Given the description of an element on the screen output the (x, y) to click on. 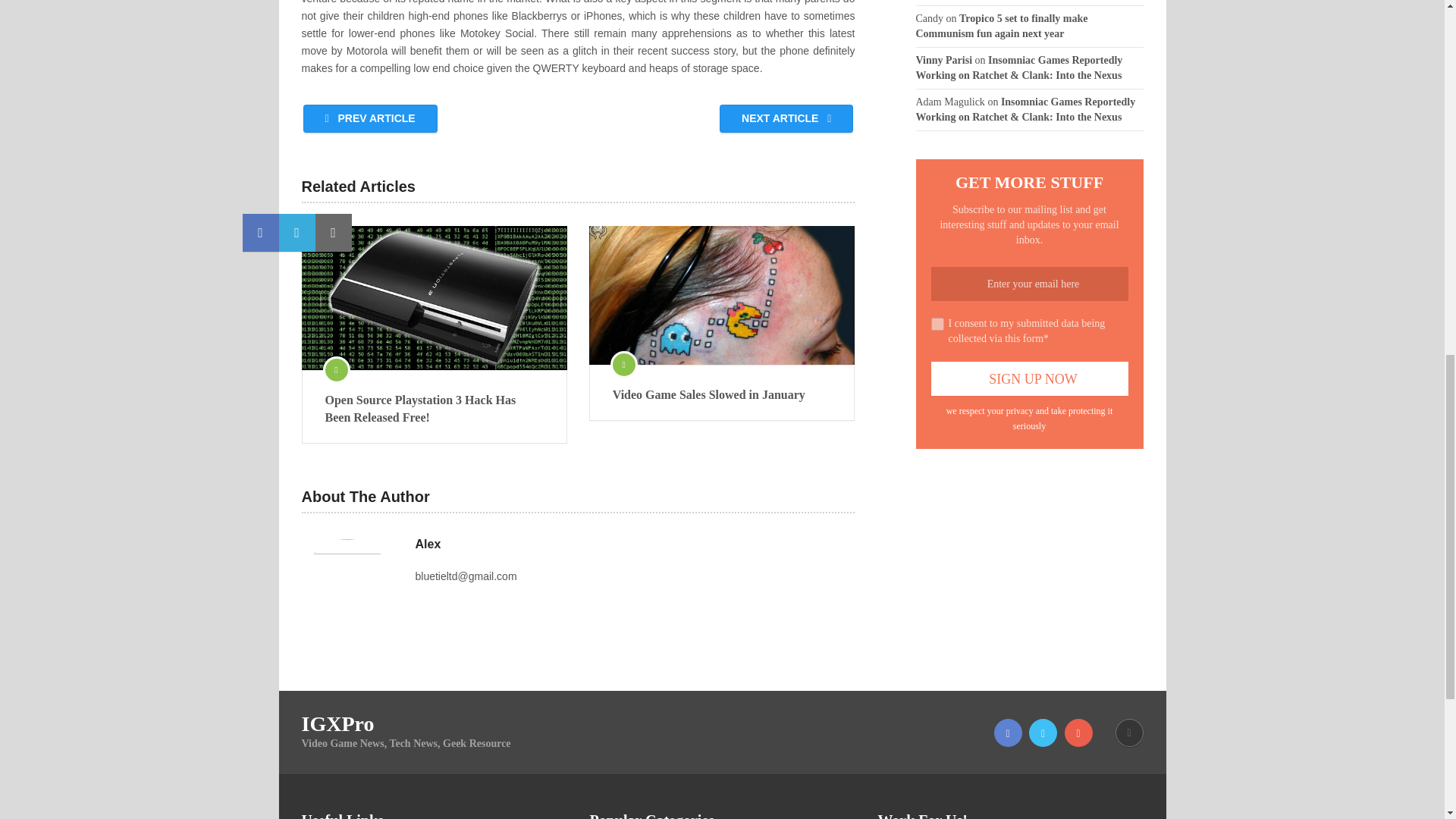
Video Game Sales Slowed in January (721, 295)
Sign Up Now (1029, 378)
NEXT ARTICLE (786, 118)
Open Source Playstation 3 Hack Has Been Released Free! (433, 408)
on (937, 323)
Video Game Sales Slowed in January (721, 394)
PREV ARTICLE (370, 118)
Open Source Playstation 3 Hack Has Been Released Free! (434, 298)
